Given the description of an element on the screen output the (x, y) to click on. 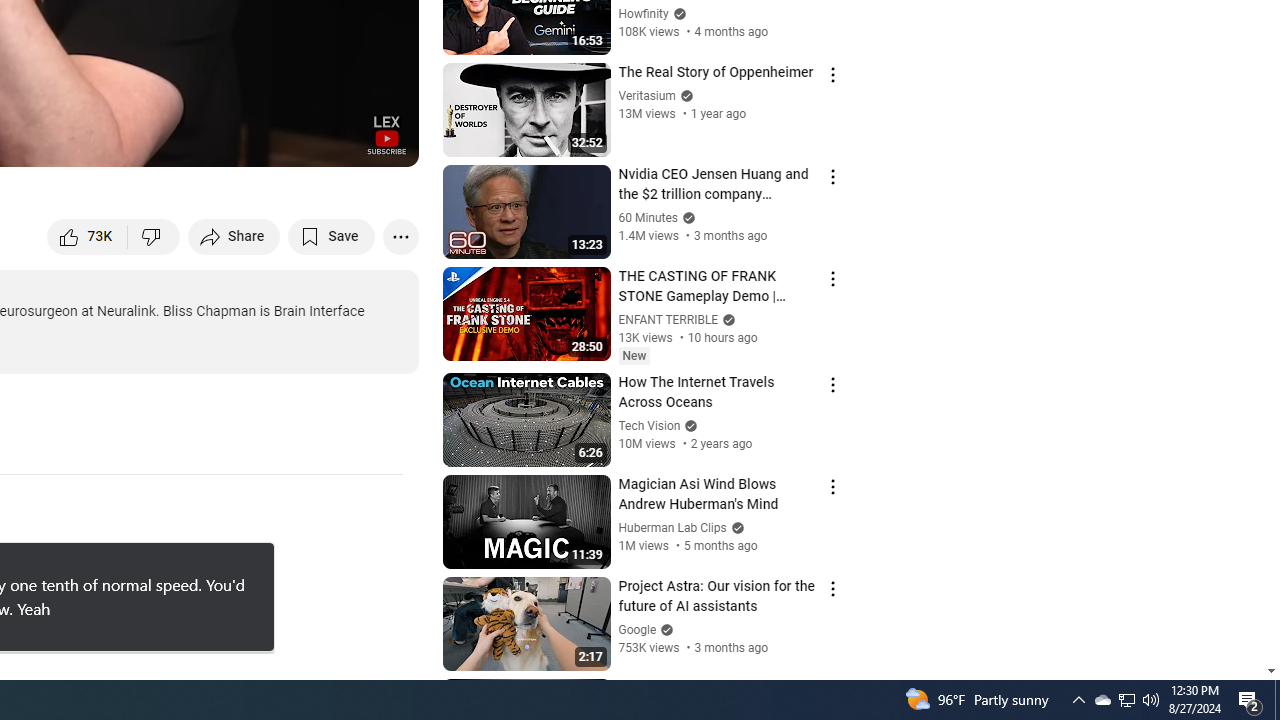
Dislike this video (154, 236)
Channel watermark (386, 134)
Theater mode (t) (333, 142)
